Given the description of an element on the screen output the (x, y) to click on. 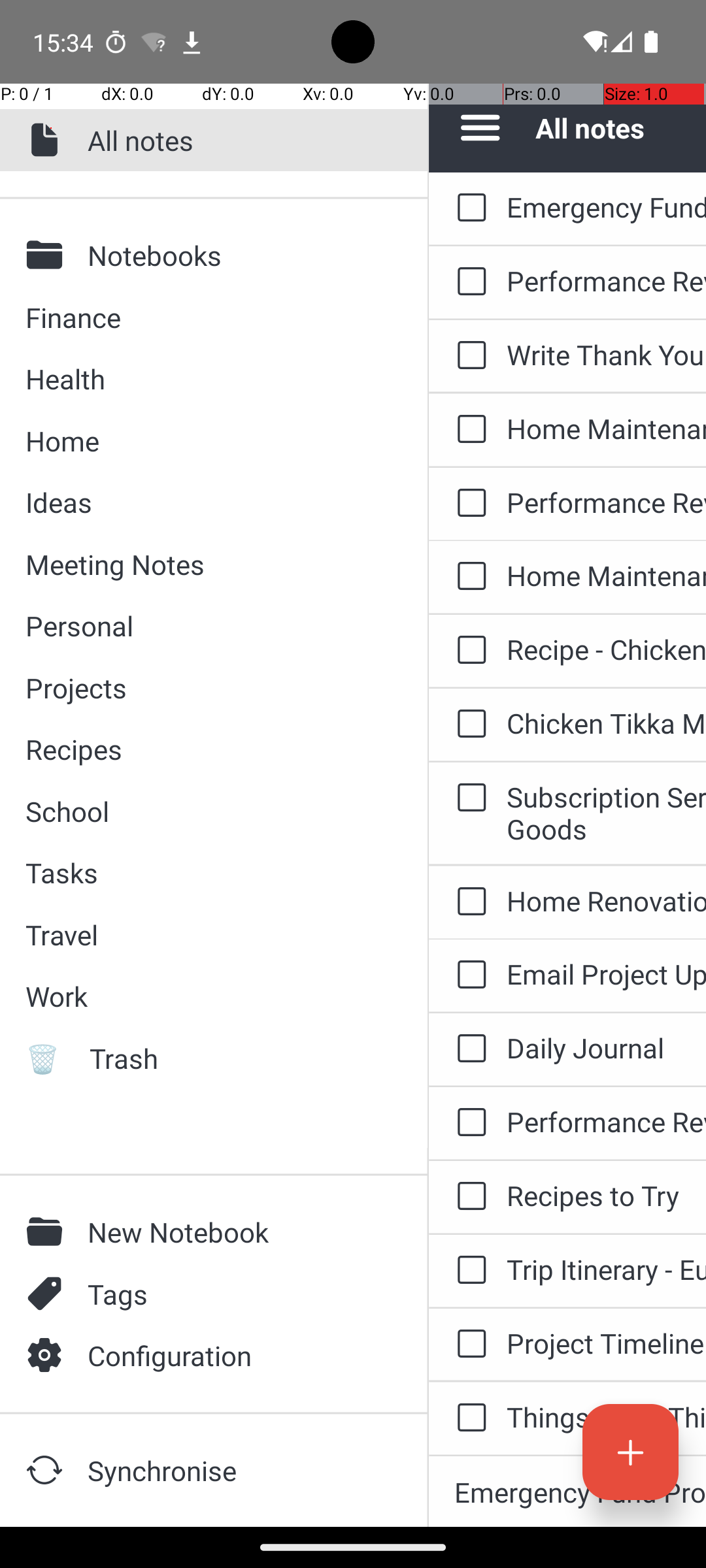
 Element type: android.widget.TextView (47, 254)
Notebooks Element type: android.widget.TextView (235, 254)
 Element type: android.widget.TextView (47, 1231)
New Notebook Element type: android.widget.TextView (235, 1231)
 Element type: android.widget.TextView (47, 1293)
 Element type: android.widget.TextView (47, 1354)
Configuration Element type: android.widget.TextView (235, 1354)
 Element type: android.widget.TextView (47, 1469)
Synchronise Element type: android.widget.TextView (235, 1469)
to-do: Emergency Fund Progress Element type: android.widget.CheckBox (467, 208)
Emergency Fund Progress Element type: android.widget.TextView (606, 206)
to-do: Performance Review Talking Points Element type: android.widget.CheckBox (467, 282)
to-do: Write Thank You Notes for Wedding Gifts Element type: android.widget.CheckBox (467, 356)
Write Thank You Notes for Wedding Gifts Element type: android.widget.TextView (606, 354)
to-do: Home Maintenance Schedule Element type: android.widget.CheckBox (467, 429)
Home Maintenance Schedule Element type: android.widget.TextView (606, 427)
to-do: Recipe - Chicken Noodle Soup Element type: android.widget.CheckBox (467, 650)
Recipe - Chicken Noodle Soup Element type: android.widget.TextView (606, 648)
to-do: Chicken Tikka Masala Element type: android.widget.CheckBox (467, 724)
Chicken Tikka Masala Element type: android.widget.TextView (606, 722)
to-do: Subscription Service for Sustainable Home Goods Element type: android.widget.CheckBox (467, 798)
Subscription Service for Sustainable Home Goods Element type: android.widget.TextView (606, 812)
to-do: Home Renovation Ideas Element type: android.widget.CheckBox (467, 902)
Home Renovation Ideas Element type: android.widget.TextView (606, 900)
to-do: Email Project Update to Client Element type: android.widget.CheckBox (467, 975)
Email Project Update to Client Element type: android.widget.TextView (606, 973)
to-do: Daily Journal Element type: android.widget.CheckBox (467, 1049)
Daily Journal Element type: android.widget.TextView (606, 1047)
to-do: Recipes to Try Element type: android.widget.CheckBox (467, 1196)
Recipes to Try Element type: android.widget.TextView (606, 1194)
to-do: Trip Itinerary - Europe Summer 2024 Element type: android.widget.CheckBox (467, 1270)
Trip Itinerary - Europe Summer 2024 Element type: android.widget.TextView (606, 1268)
to-do: Things to Do This Weekend Element type: android.widget.CheckBox (467, 1418)
Things to Do This Weekend Element type: android.widget.TextView (606, 1416)
 Element type: android.widget.TextView (47, 139)
🗑️ Element type: android.widget.TextView (48, 1057)
